Given the description of an element on the screen output the (x, y) to click on. 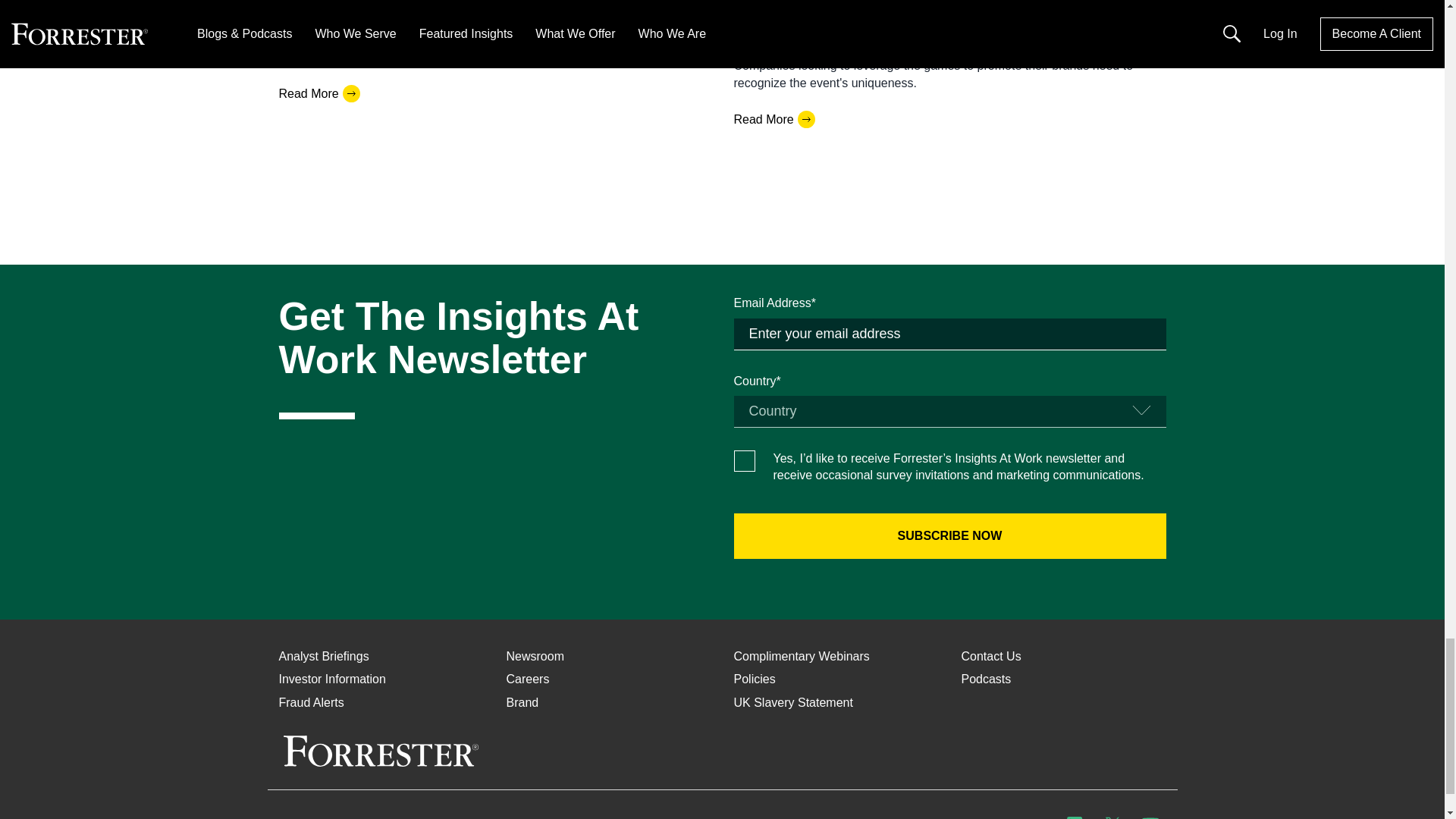
Subscribe Now (949, 535)
